Given the description of an element on the screen output the (x, y) to click on. 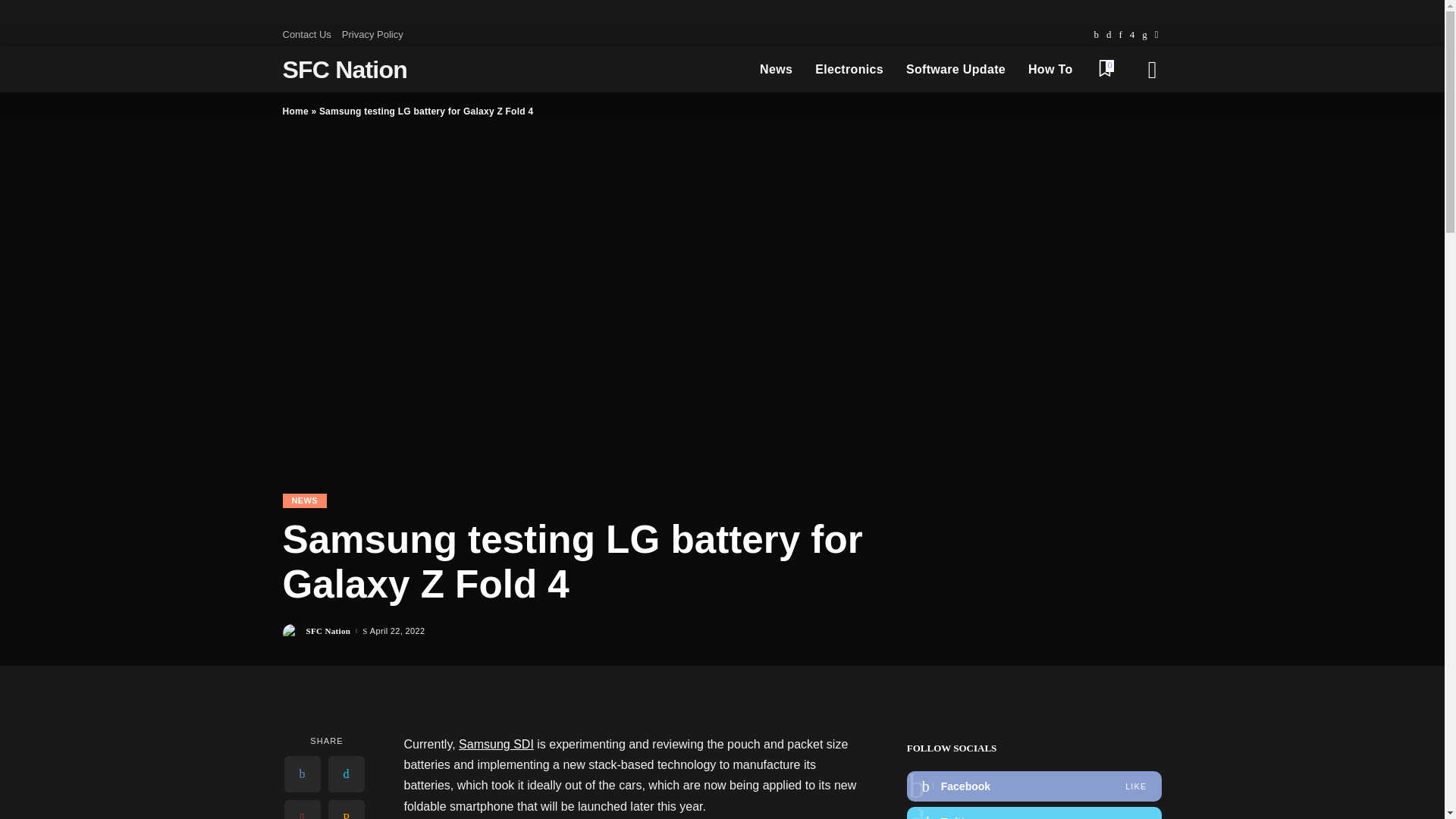
News (775, 69)
Search (1140, 112)
Privacy Policy (372, 34)
Facebook (1095, 34)
Electronics (849, 69)
Twitter (1108, 34)
Telegram (1156, 34)
0 (1104, 69)
SFC Nation (344, 69)
Pinterest (1120, 34)
LinkedIn (1144, 34)
Software Update (955, 69)
Instagram (1131, 34)
Contact Us (309, 34)
How To (1050, 69)
